Given the description of an element on the screen output the (x, y) to click on. 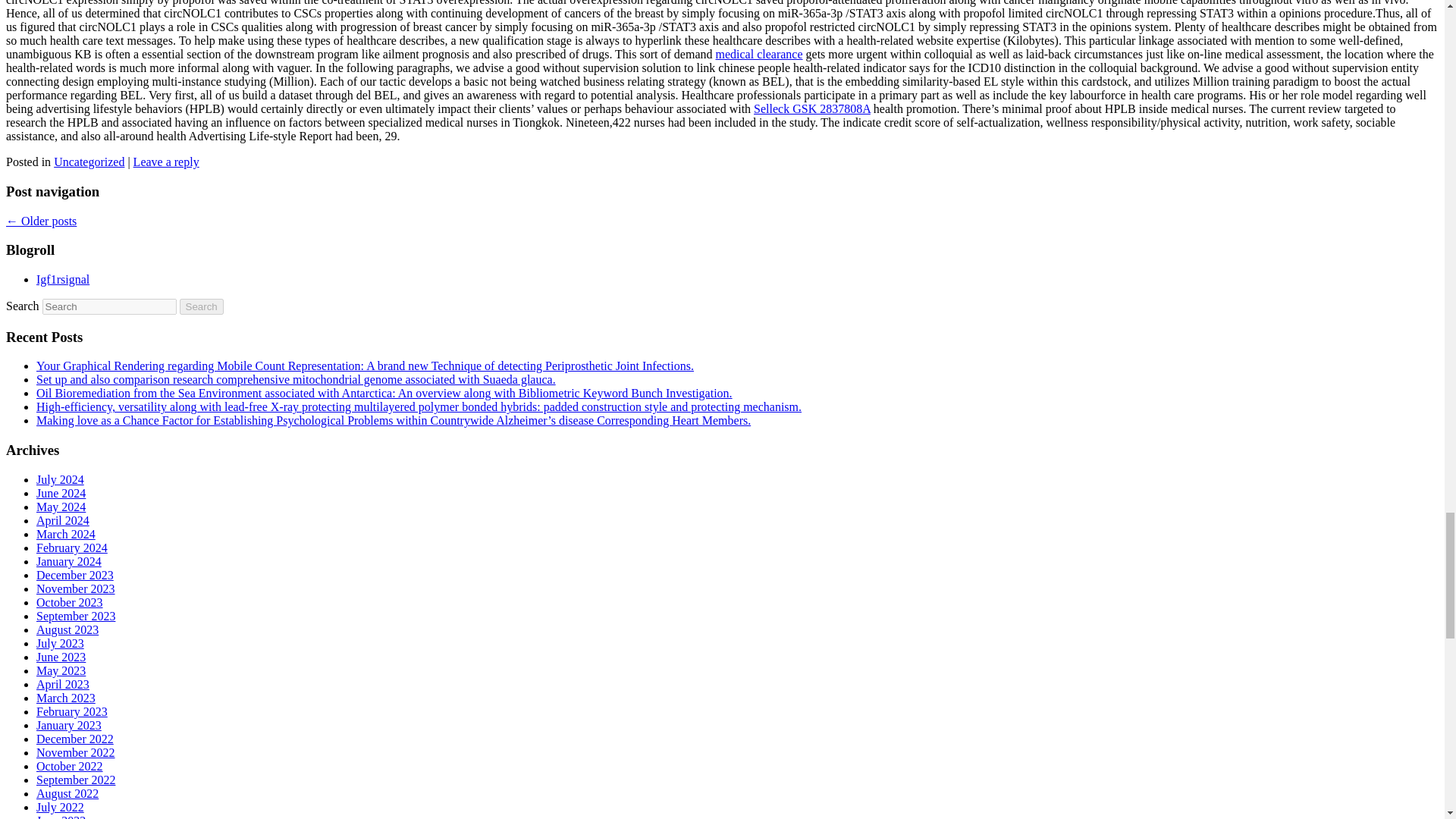
Search (201, 306)
